Given the description of an element on the screen output the (x, y) to click on. 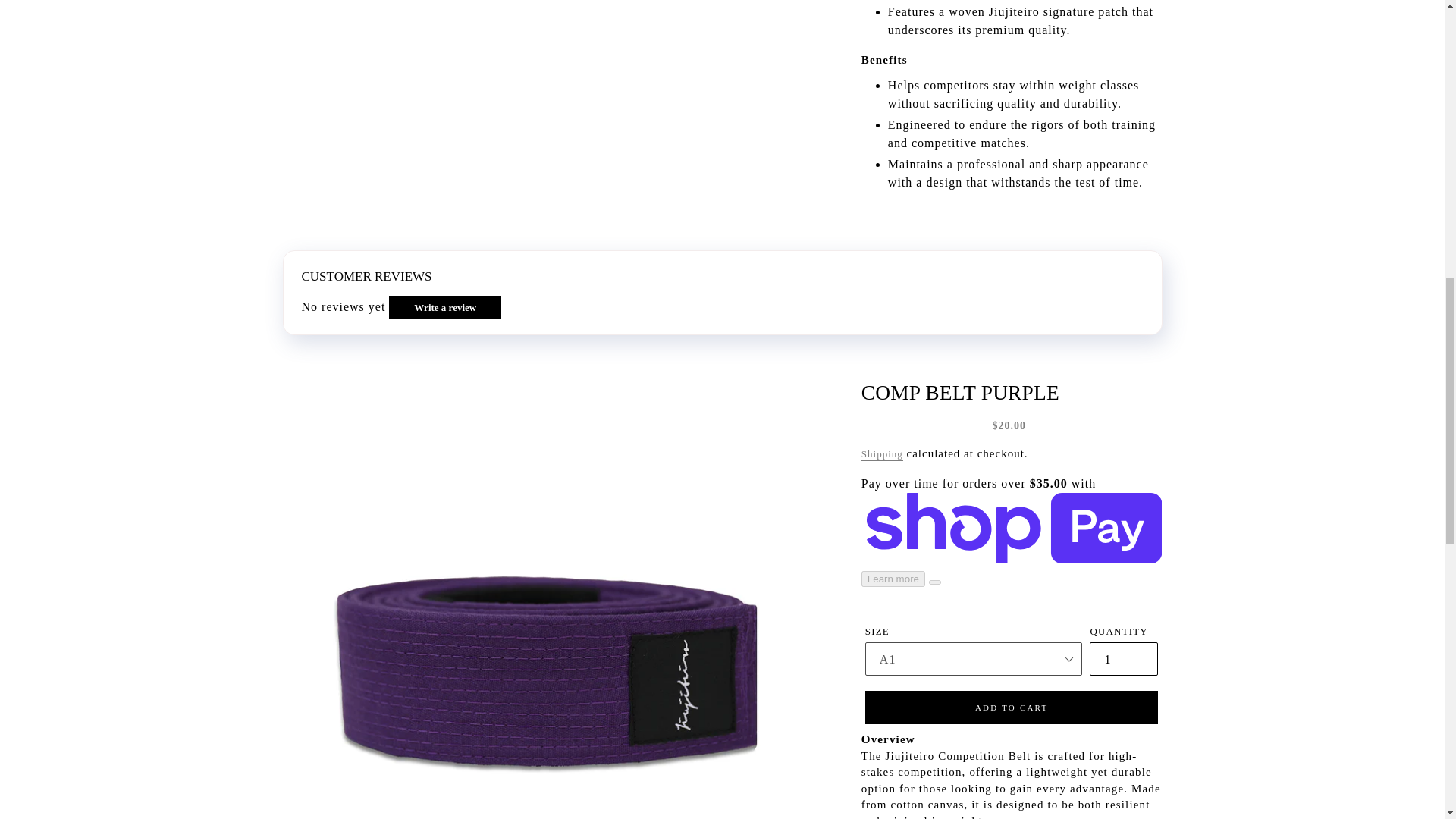
1 (1123, 658)
